Given the description of an element on the screen output the (x, y) to click on. 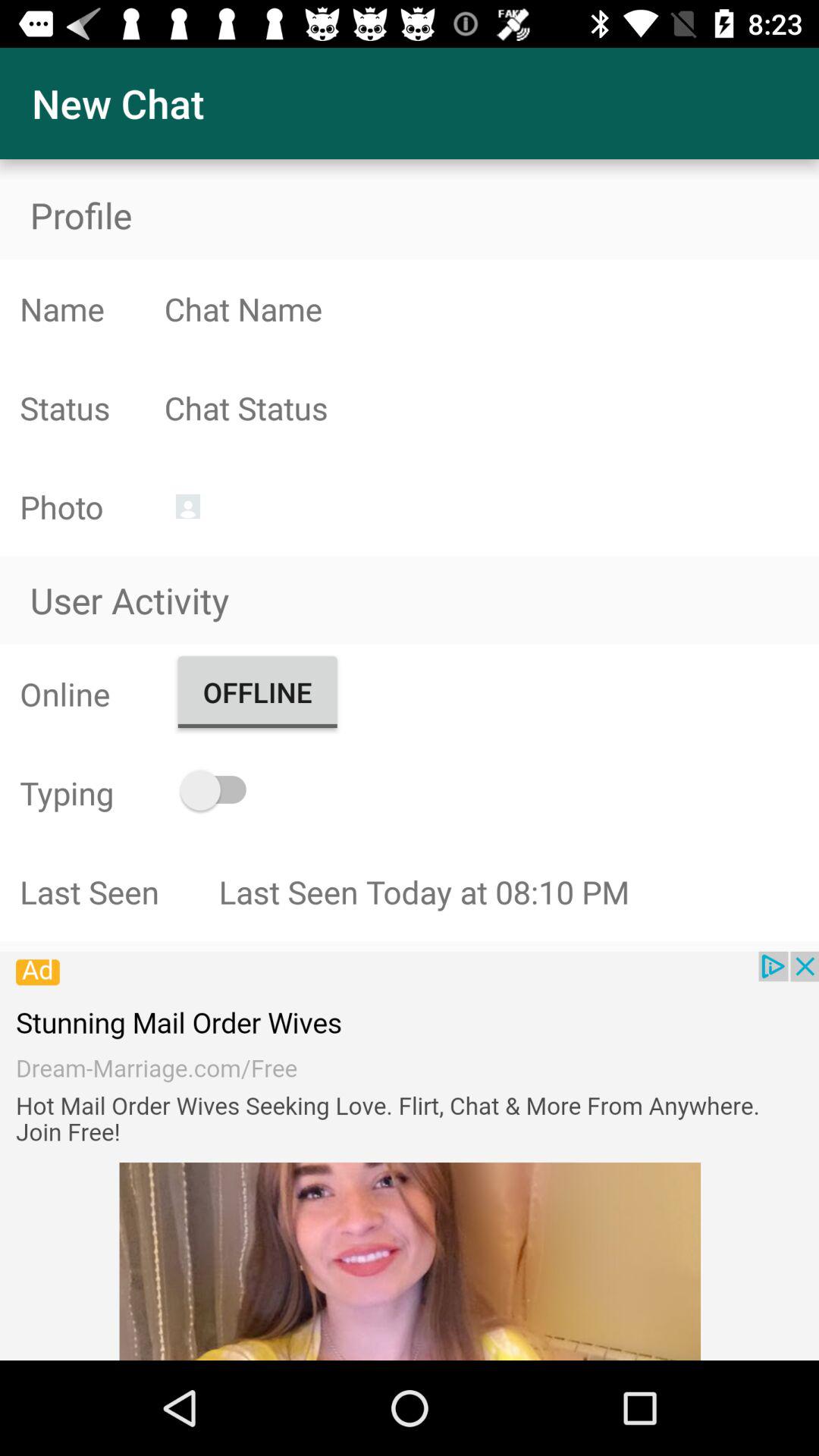
name input box (491, 308)
